Given the description of an element on the screen output the (x, y) to click on. 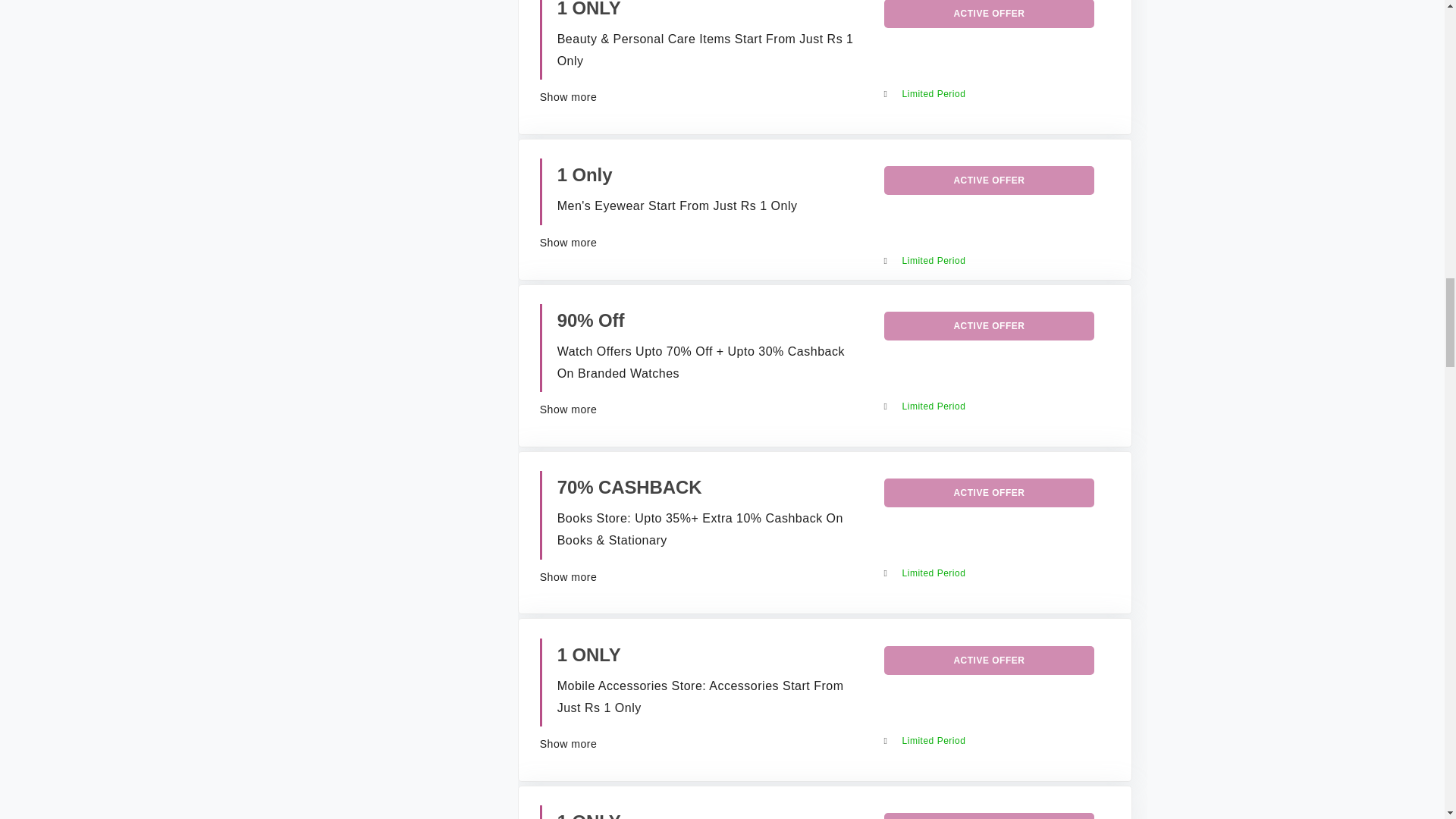
1 ONLY (589, 9)
1 Only (584, 174)
ACTIVE OFFER (988, 13)
